Given the description of an element on the screen output the (x, y) to click on. 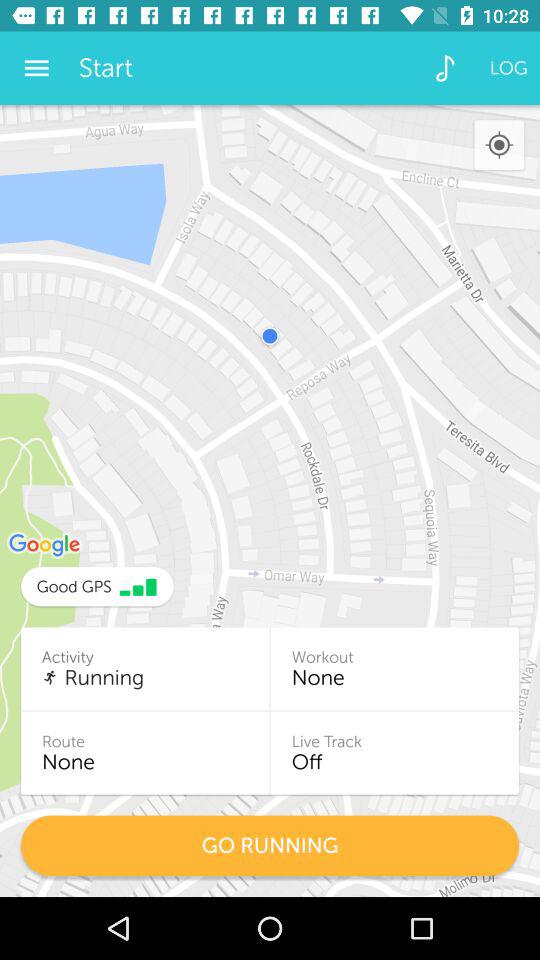
tap the icon to the right of the start icon (444, 67)
